Given the description of an element on the screen output the (x, y) to click on. 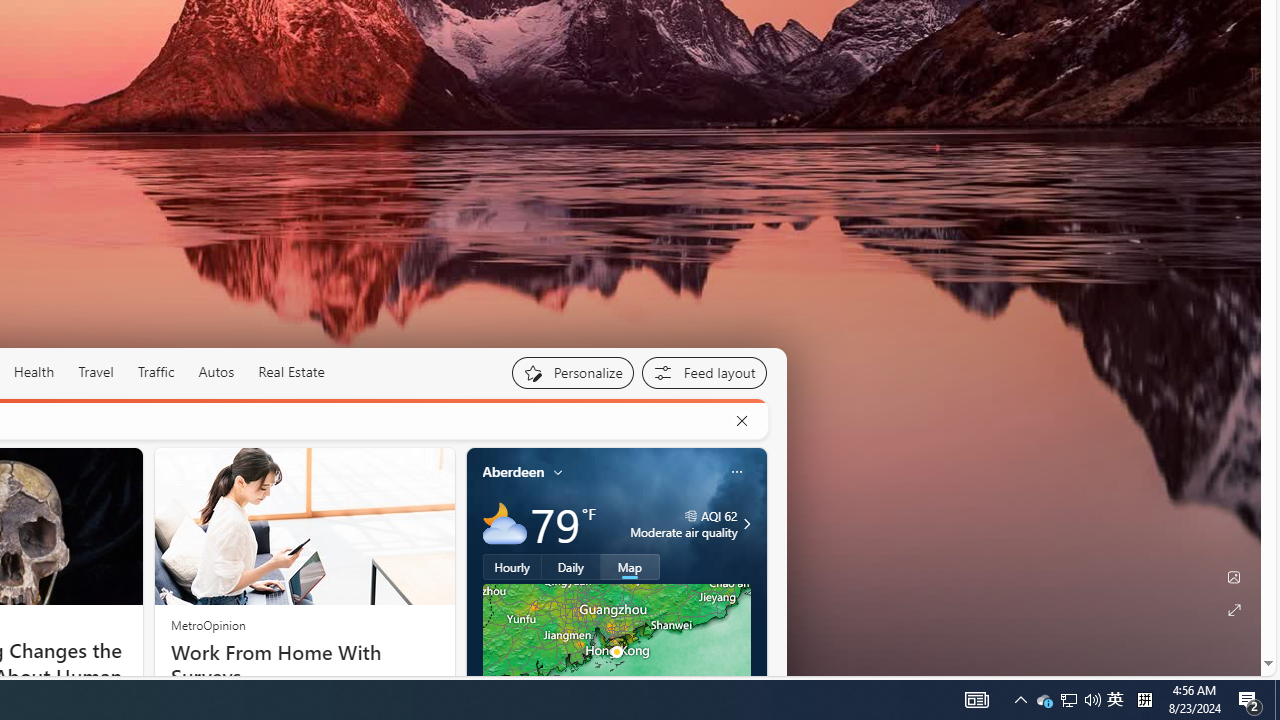
Class: weather-arrow-glyph (746, 523)
